Given the description of an element on the screen output the (x, y) to click on. 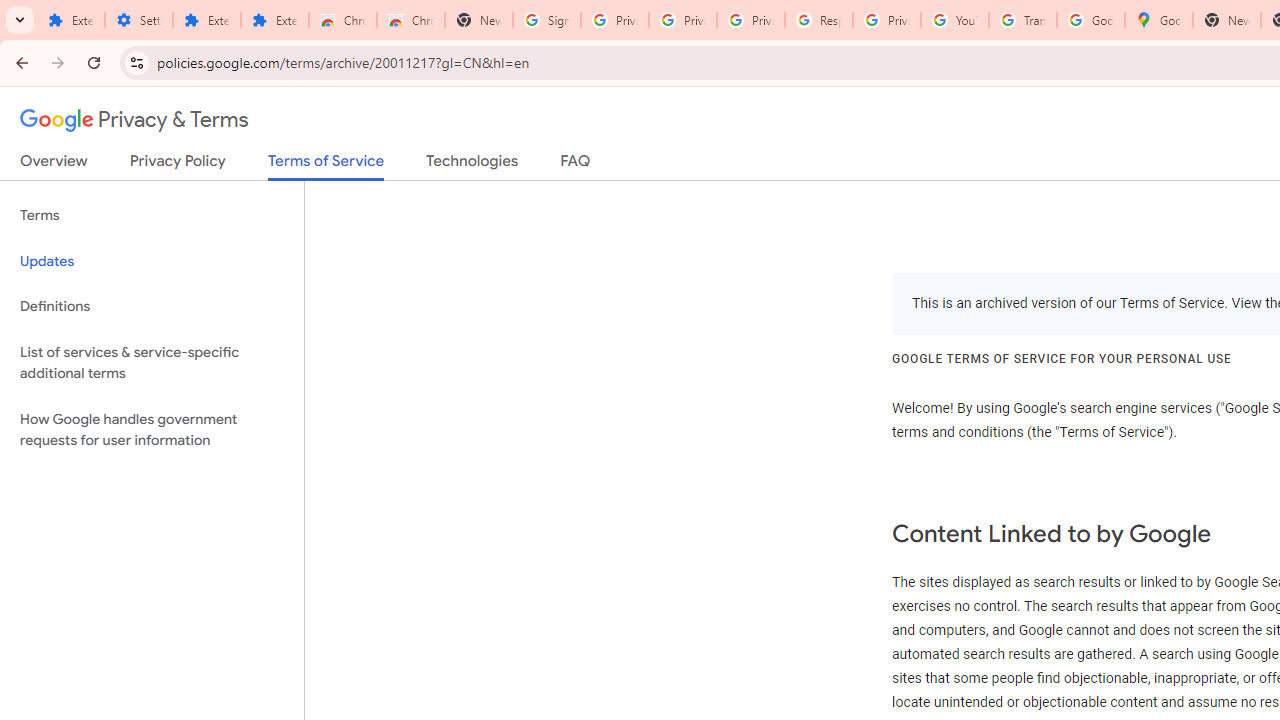
Extensions (206, 20)
